Given the description of an element on the screen output the (x, y) to click on. 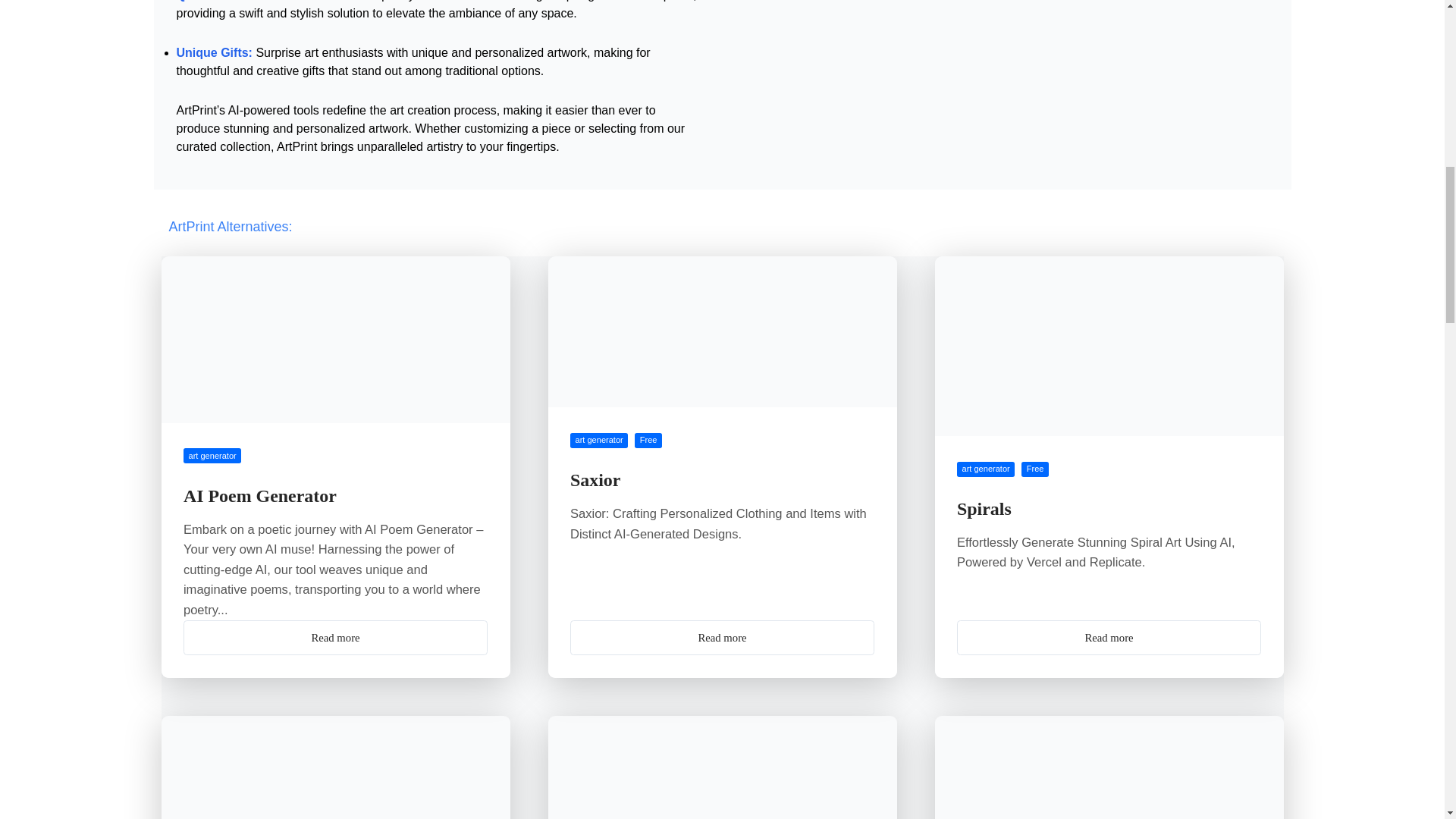
Read more (1108, 637)
Read more (722, 637)
AI Poem Generator (259, 496)
Free (648, 440)
art generator (598, 440)
Saxior (595, 479)
Free (1035, 468)
Read more (335, 637)
art generator (212, 455)
Spirals (983, 508)
